Given the description of an element on the screen output the (x, y) to click on. 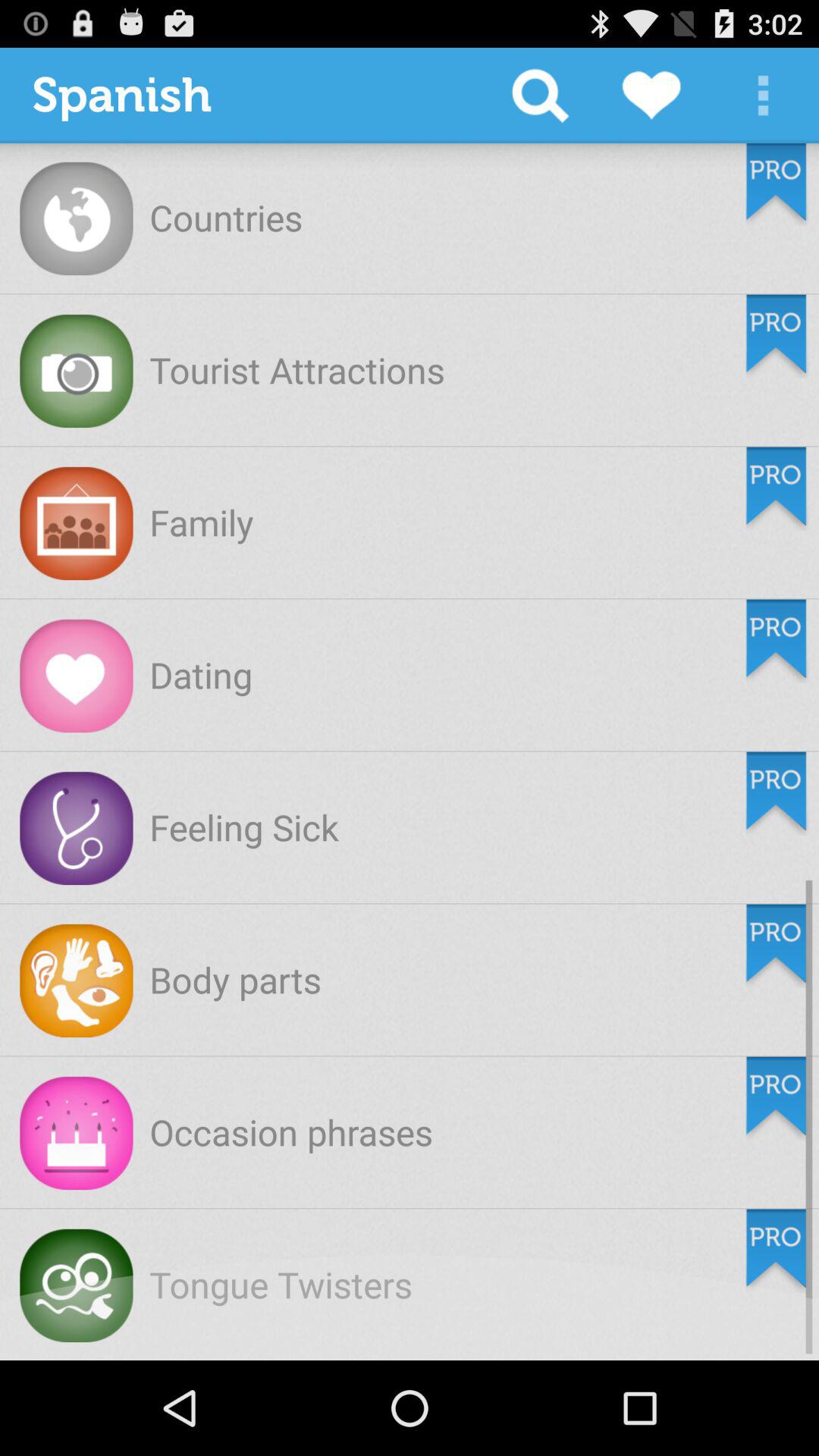
turn on family app (201, 522)
